Given the description of an element on the screen output the (x, y) to click on. 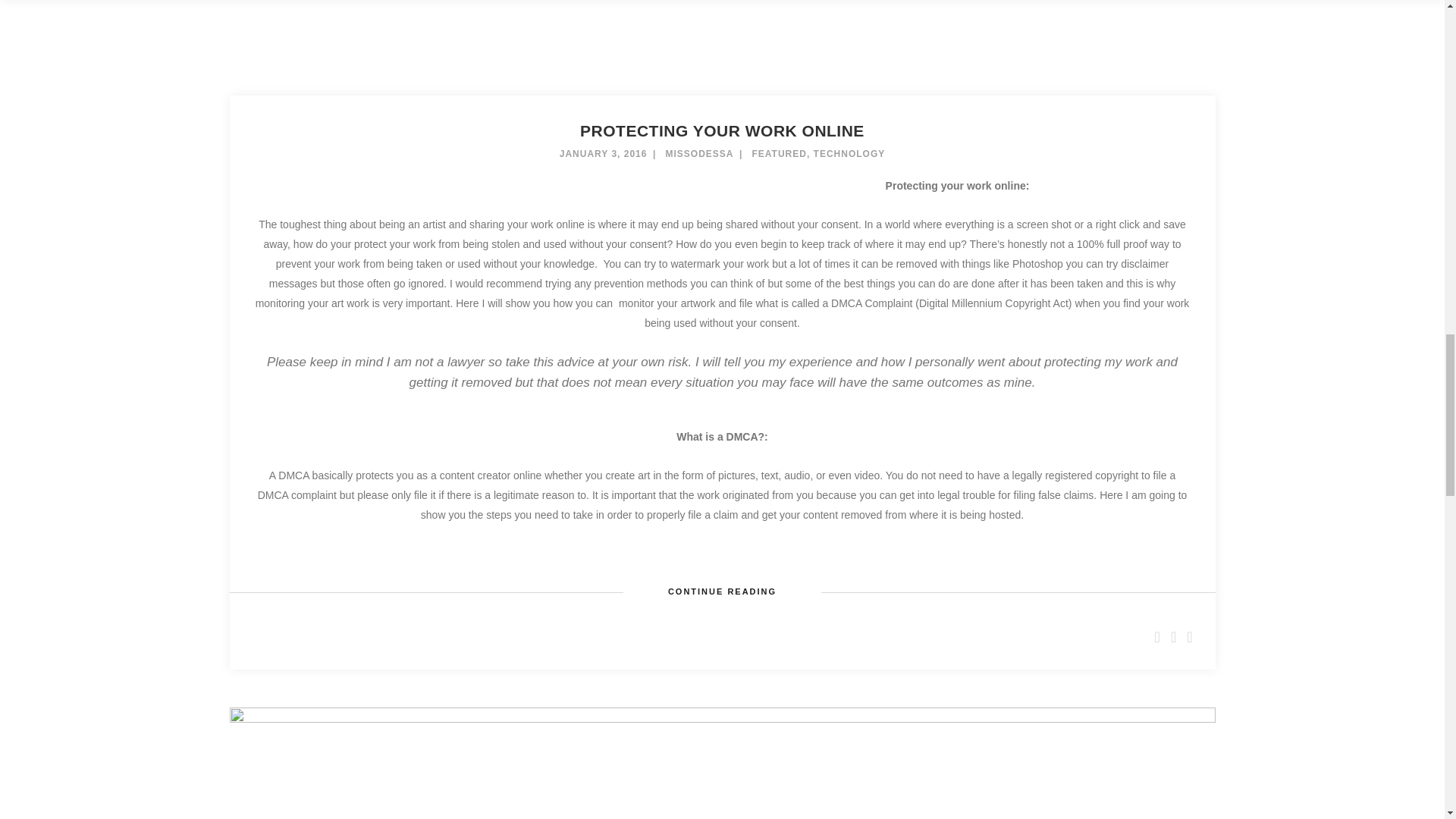
Protecting Your Work Online (721, 130)
